Given the description of an element on the screen output the (x, y) to click on. 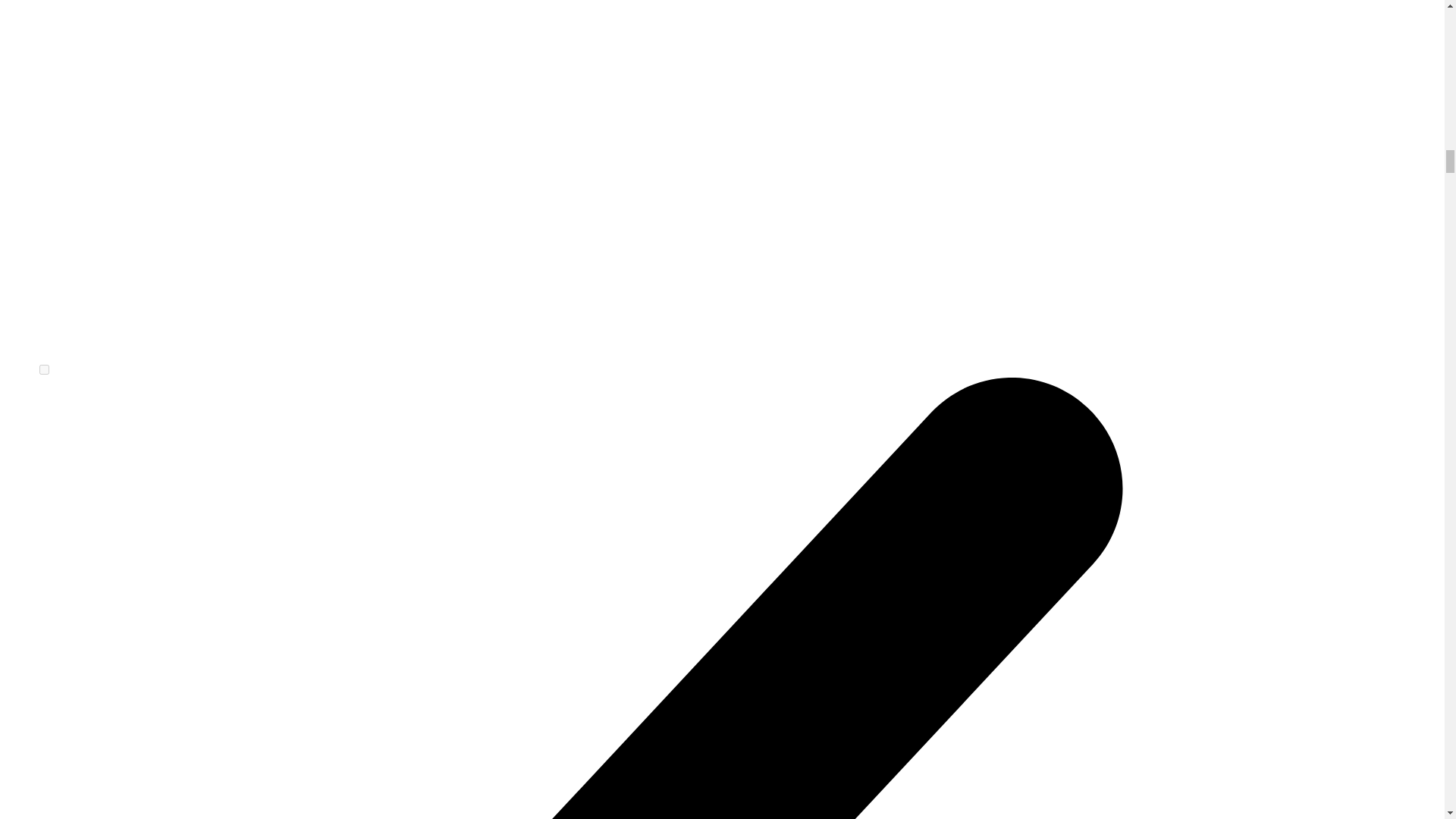
on (44, 369)
